Given the description of an element on the screen output the (x, y) to click on. 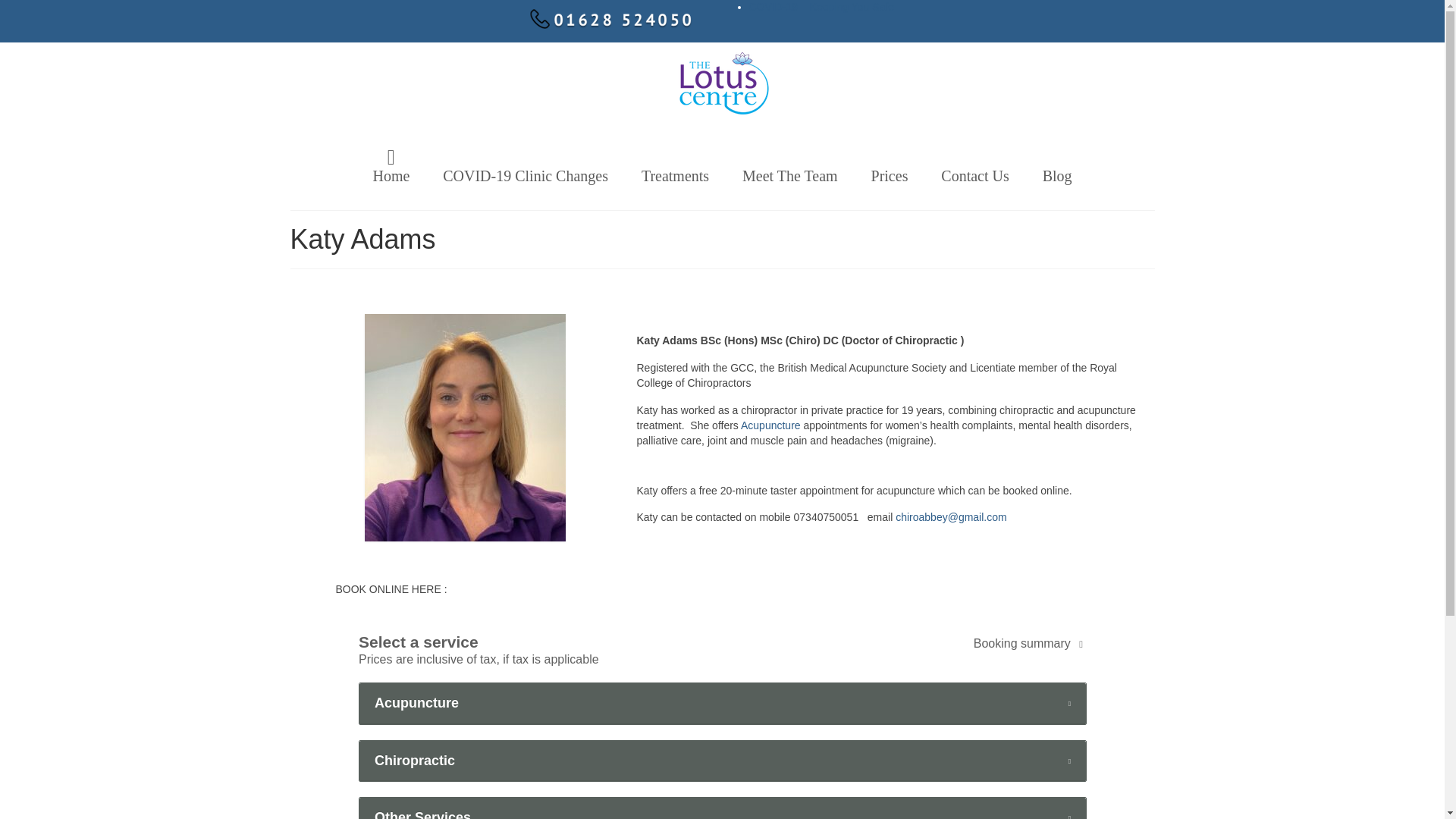
Blog (1057, 175)
Prices (889, 175)
Home (390, 164)
Contact Us (974, 175)
Treatments (674, 175)
Meet The Team (789, 175)
COVID-19 Clinic Changes (525, 175)
